Given the description of an element on the screen output the (x, y) to click on. 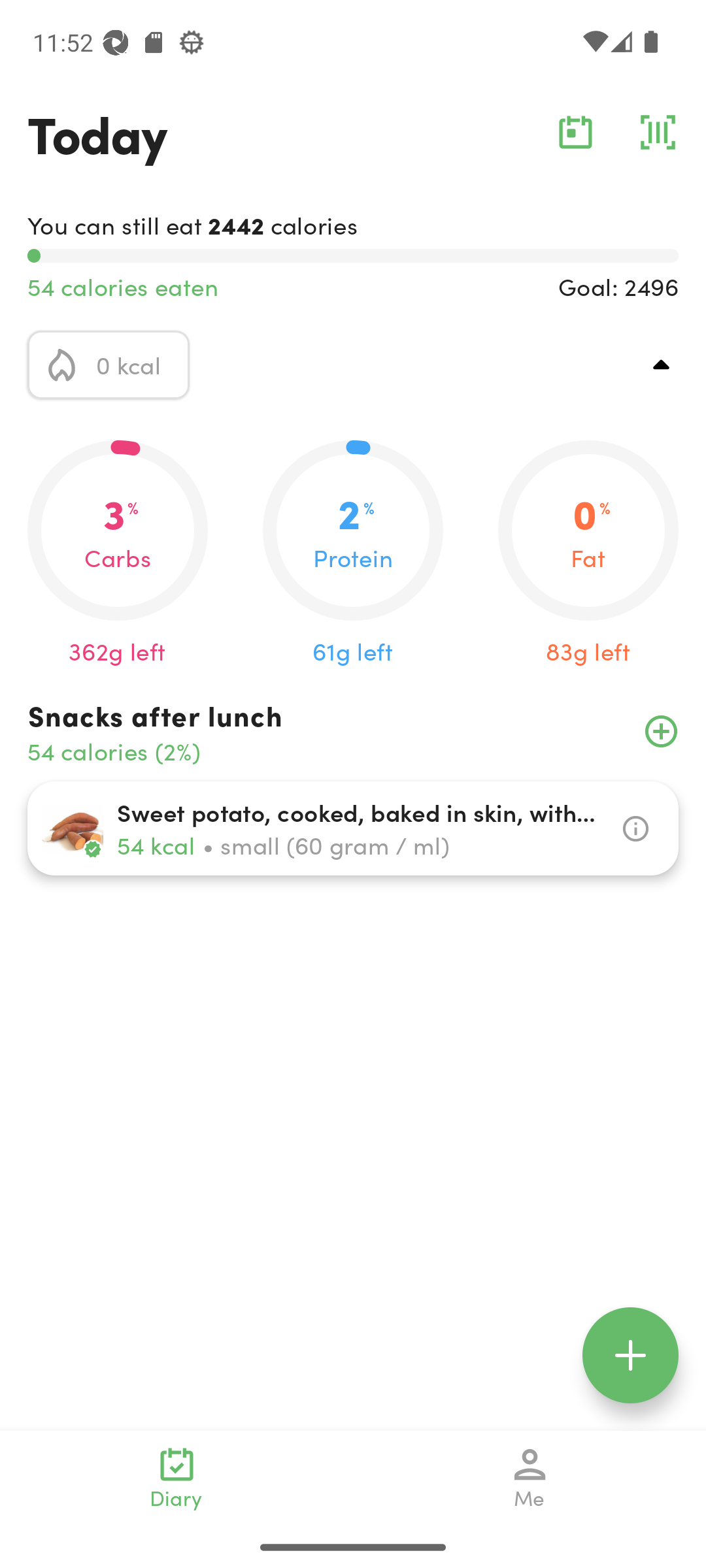
calendar_action (575, 132)
barcode_action (658, 132)
calorie_icon 0 kcal (108, 365)
top_right_action (661, 365)
0.03 3 % Carbs 362g left (117, 553)
0.02 2 % Protein 61g left (352, 553)
0.0 0 % Fat 83g left (588, 553)
info_icon (636, 828)
floating_action_icon (630, 1355)
Me navigation_icon (529, 1478)
